Given the description of an element on the screen output the (x, y) to click on. 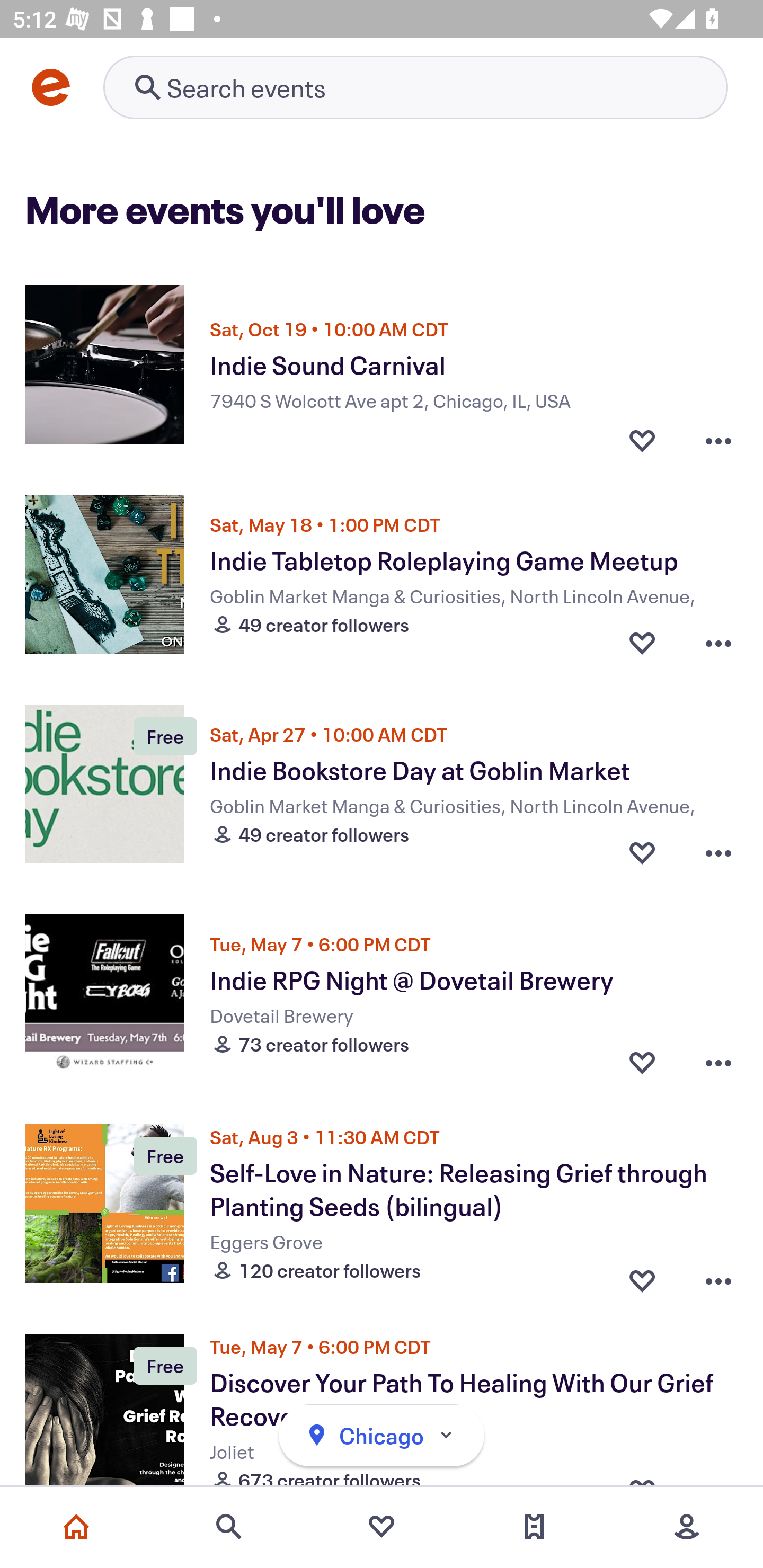
Retry's image Search events (415, 86)
Favorite button (642, 435)
Overflow menu button (718, 435)
Favorite button (642, 641)
Overflow menu button (718, 641)
Favorite button (642, 852)
Overflow menu button (718, 852)
Favorite button (642, 1062)
Overflow menu button (718, 1062)
Favorite button (642, 1275)
Overflow menu button (718, 1275)
Chicago (381, 1435)
Home (76, 1526)
Search events (228, 1526)
Favorites (381, 1526)
Tickets (533, 1526)
More (686, 1526)
